Given the description of an element on the screen output the (x, y) to click on. 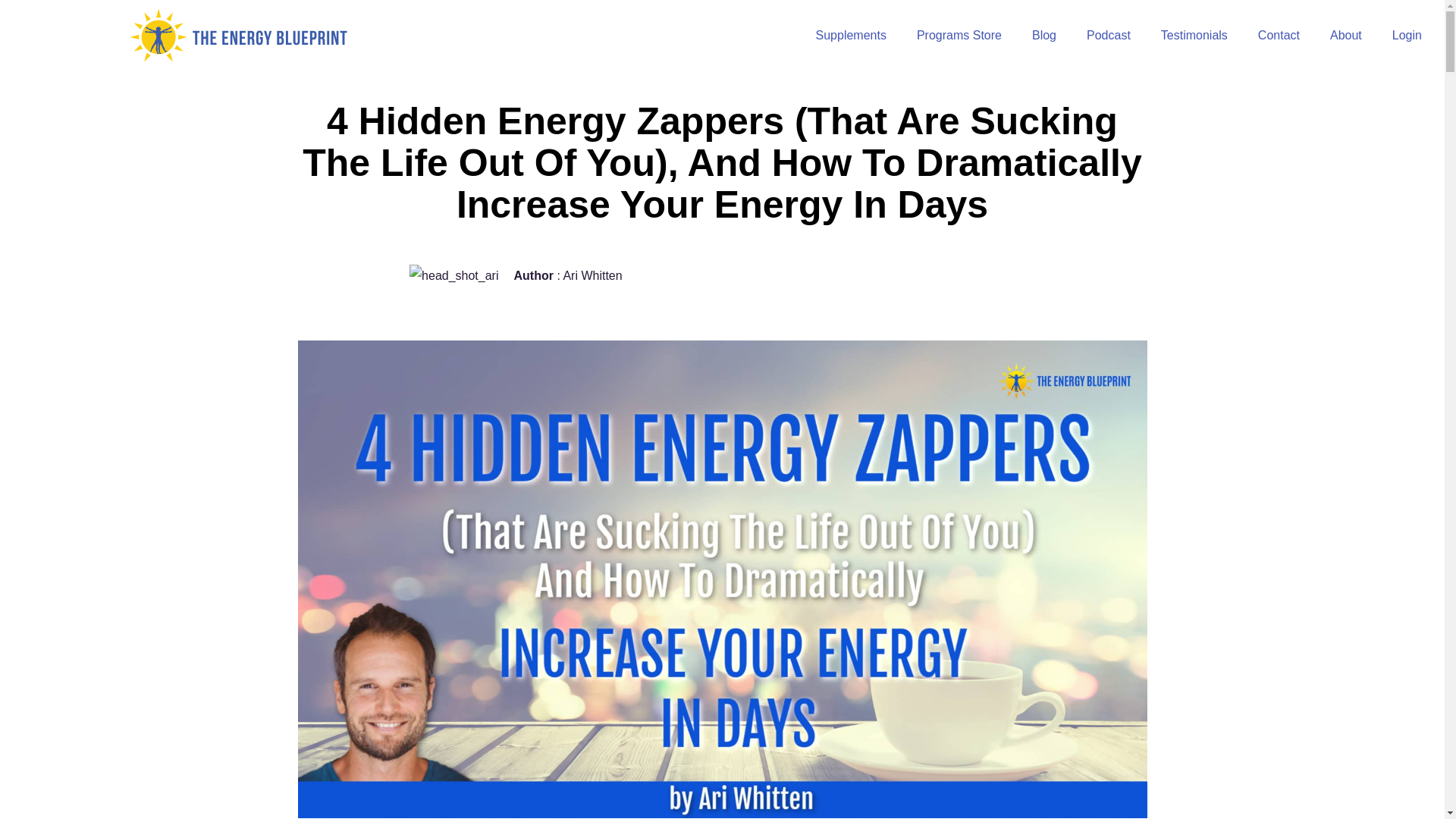
Contact (1278, 35)
Supplements (850, 35)
Blog (1043, 35)
About (1345, 35)
Login (1407, 35)
Testimonials (1194, 35)
Programs Store (958, 35)
Podcast (1108, 35)
